Given the description of an element on the screen output the (x, y) to click on. 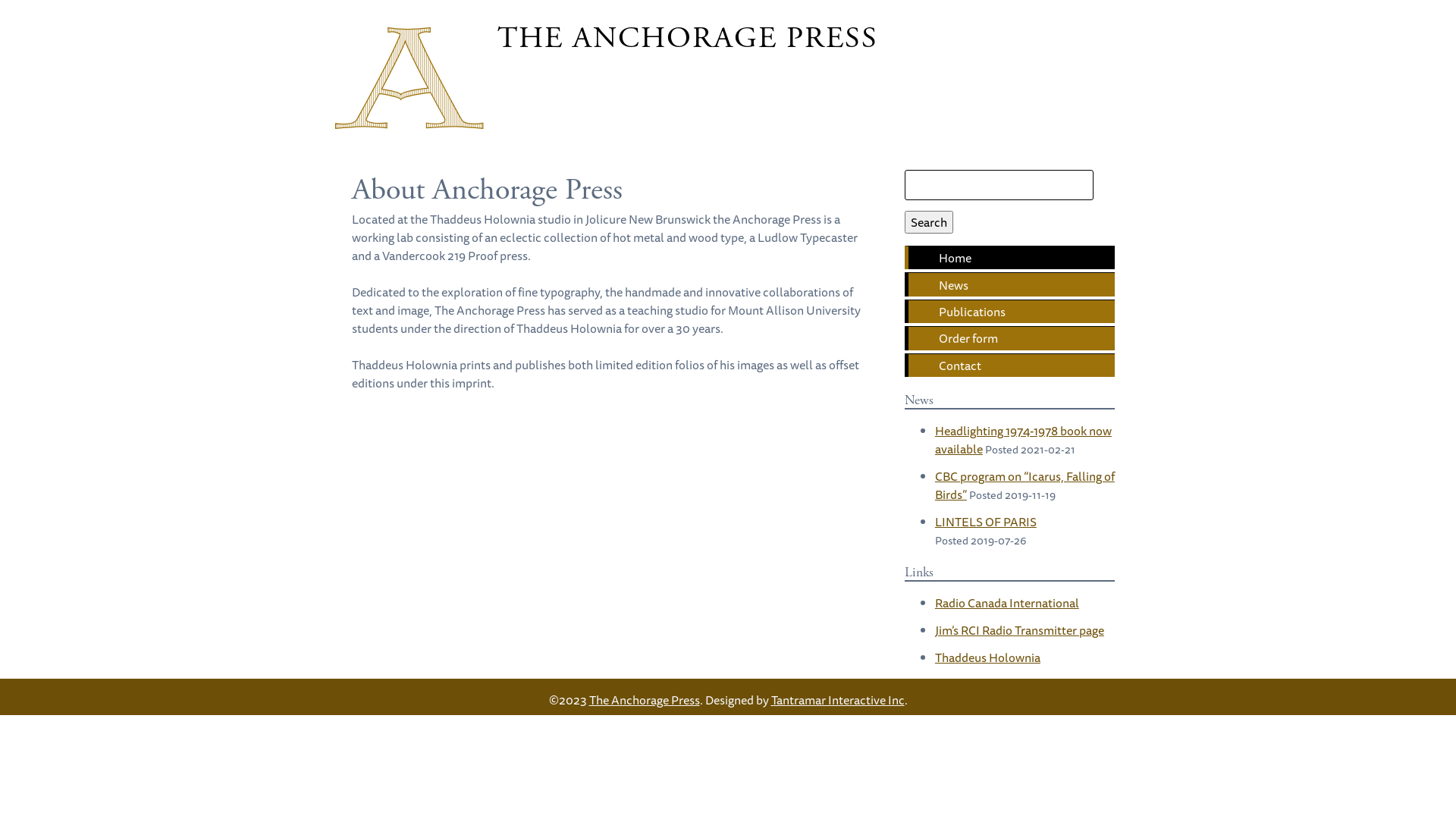
LINTELS OF PARIS Element type: text (985, 521)
Home Element type: text (1009, 257)
Contact Element type: text (1009, 364)
Thaddeus Holownia Element type: text (987, 657)
Headlighting 1974-1978 book now available Element type: text (1023, 439)
Tantramar Interactive Inc Element type: text (836, 699)
The Anchorage Press Element type: text (643, 699)
Search Element type: text (928, 221)
Publications Element type: text (1009, 311)
News Element type: text (1009, 283)
Radio Canada International Element type: text (1007, 602)
THE ANCHORAGE PRESS Element type: text (687, 37)
Order form Element type: text (1009, 337)
